Given the description of an element on the screen output the (x, y) to click on. 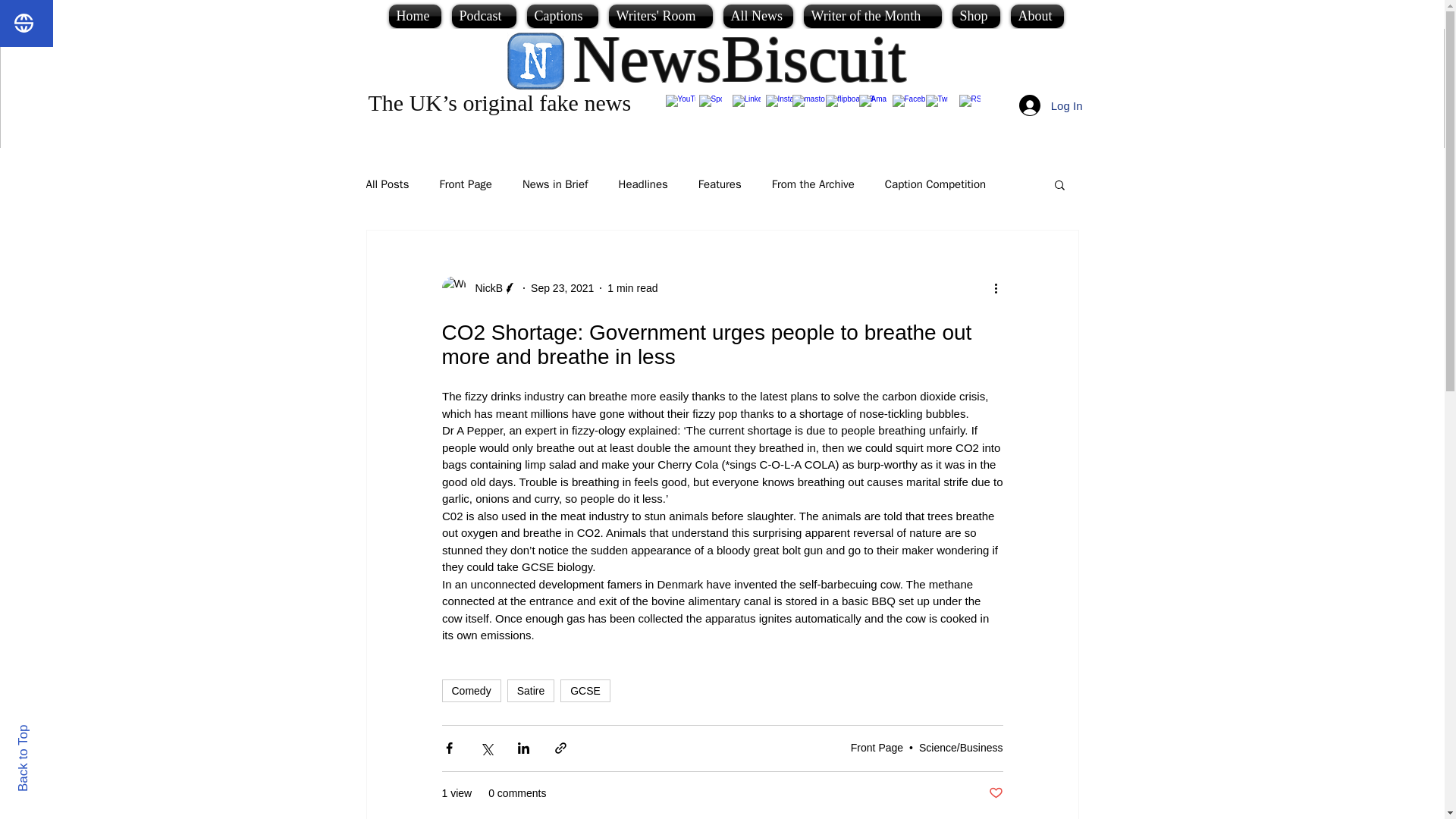
Podcast (483, 15)
Writers' Room (660, 15)
NickB (483, 288)
From the Archive (812, 184)
Features (719, 184)
Captions (562, 15)
Shop (975, 15)
NewsBiscuit (740, 58)
Home (416, 15)
All Posts (387, 184)
